Given the description of an element on the screen output the (x, y) to click on. 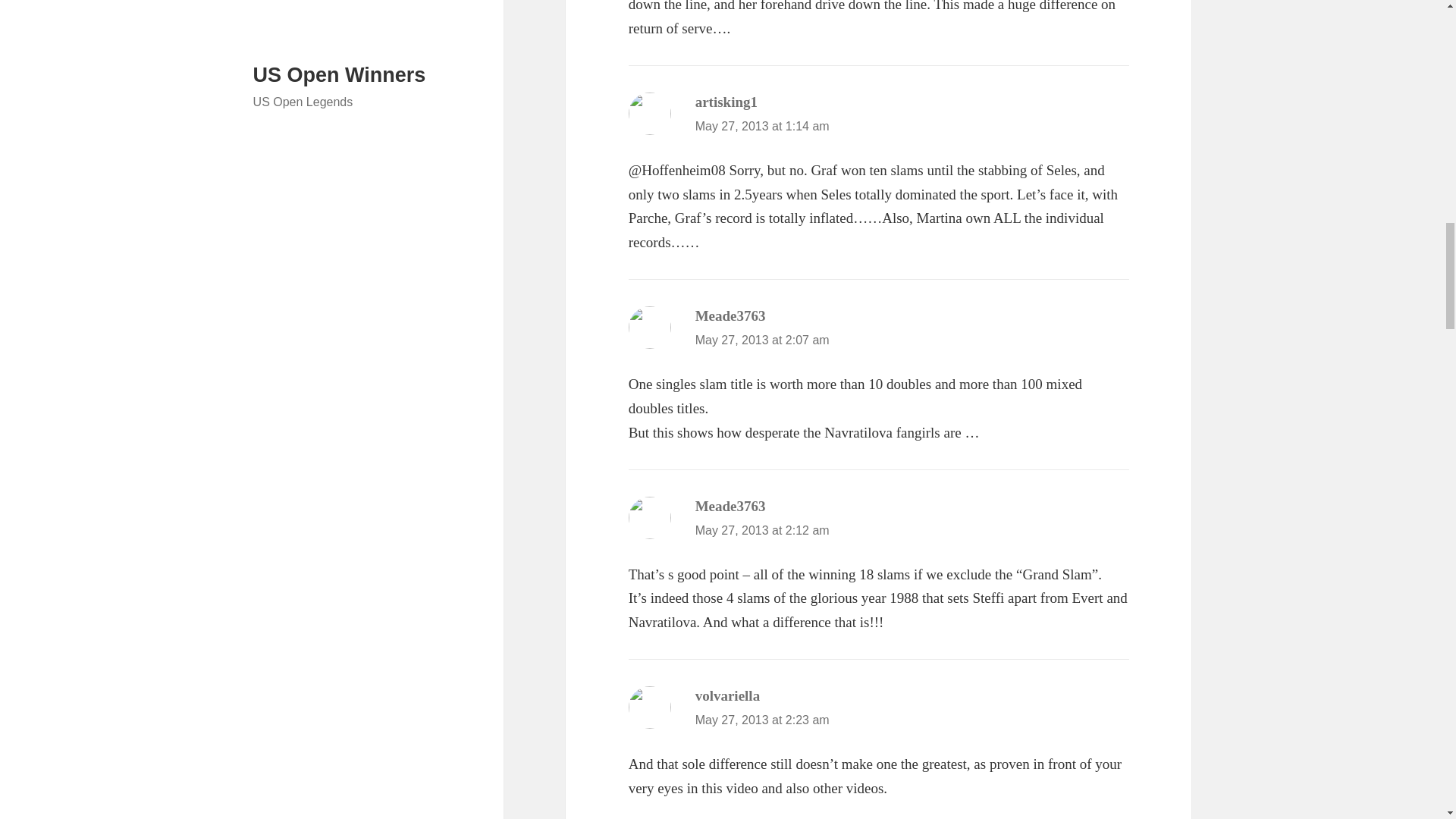
May 27, 2013 at 2:07 am (762, 339)
May 27, 2013 at 2:12 am (762, 530)
May 27, 2013 at 1:14 am (762, 125)
May 27, 2013 at 2:23 am (762, 719)
